Given the description of an element on the screen output the (x, y) to click on. 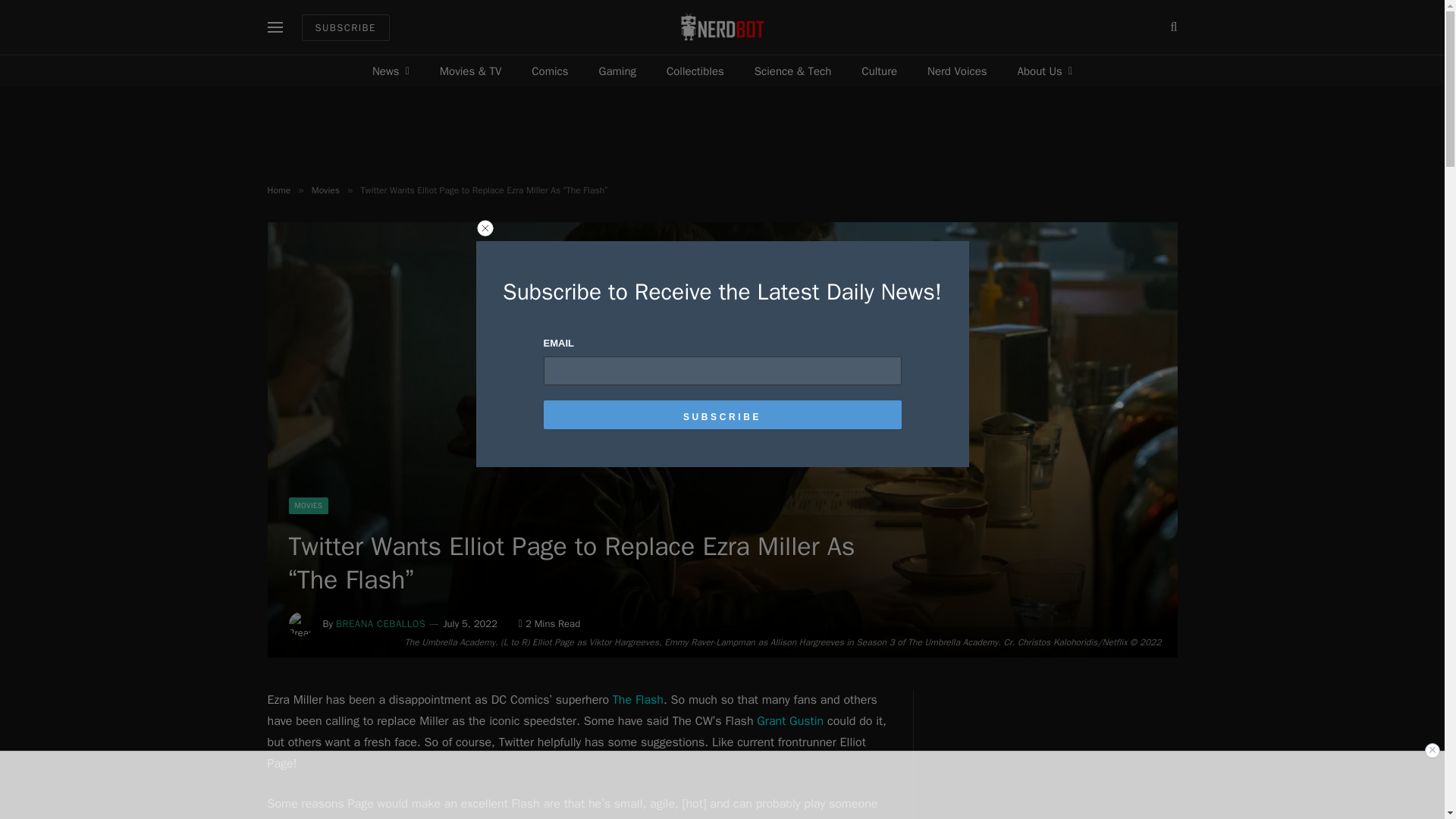
Grant Gustin (790, 720)
NERDBOT (722, 26)
SUBSCRIBE (345, 26)
Movies (325, 190)
Gaming (616, 70)
Subscribe (722, 414)
About Us (1045, 70)
BREANA CEBALLOS (380, 623)
Nerd Voices (957, 70)
Culture (878, 70)
Posts by Breana Ceballos (380, 623)
Comics (549, 70)
News (390, 70)
Collectibles (694, 70)
Home (277, 190)
